Given the description of an element on the screen output the (x, y) to click on. 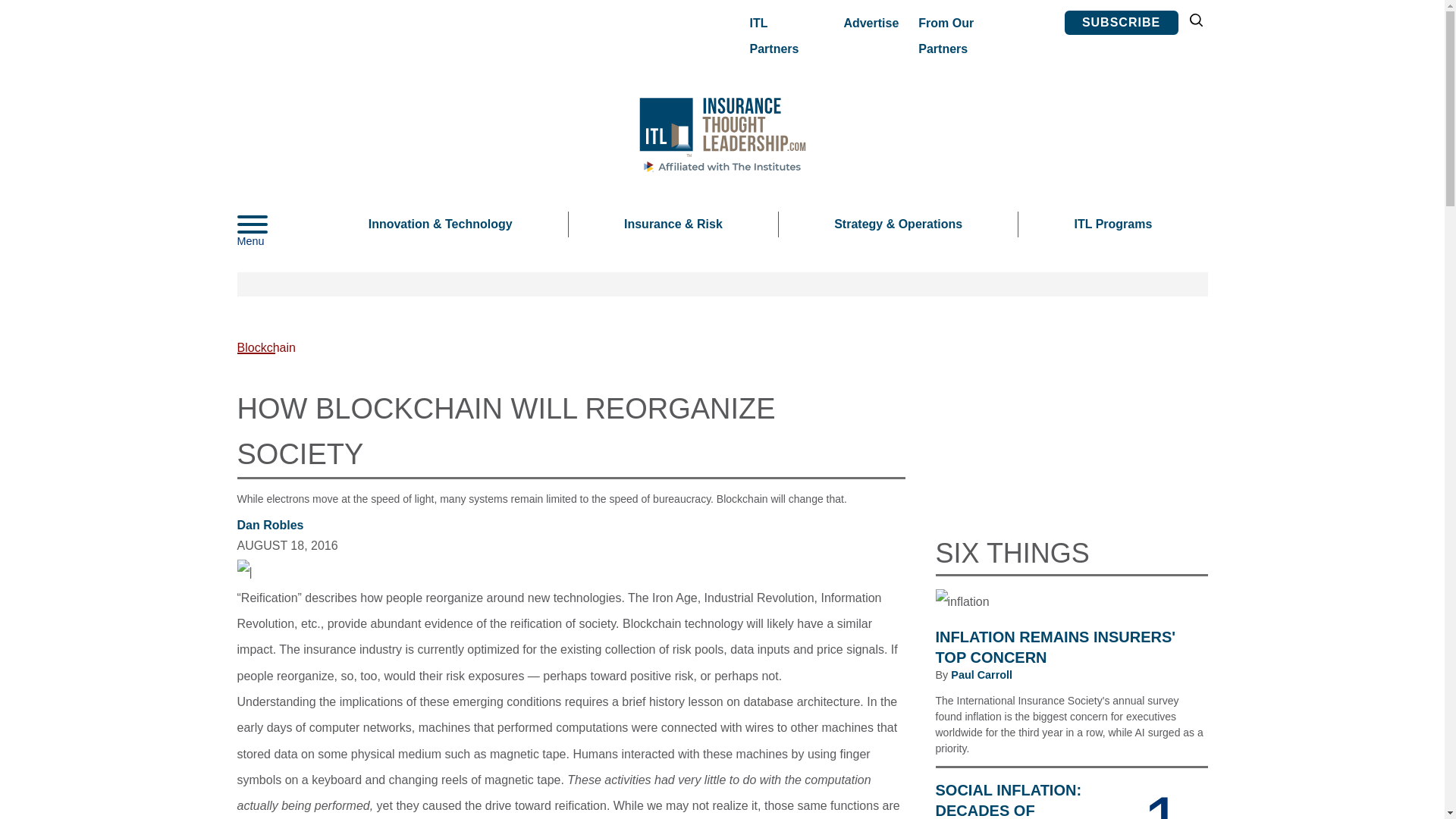
Menu (274, 224)
Advertise (870, 23)
From Our Partners (971, 36)
ITL Programs (1112, 224)
SUBSCRIBE (1120, 22)
ITL Partners (782, 36)
